Given the description of an element on the screen output the (x, y) to click on. 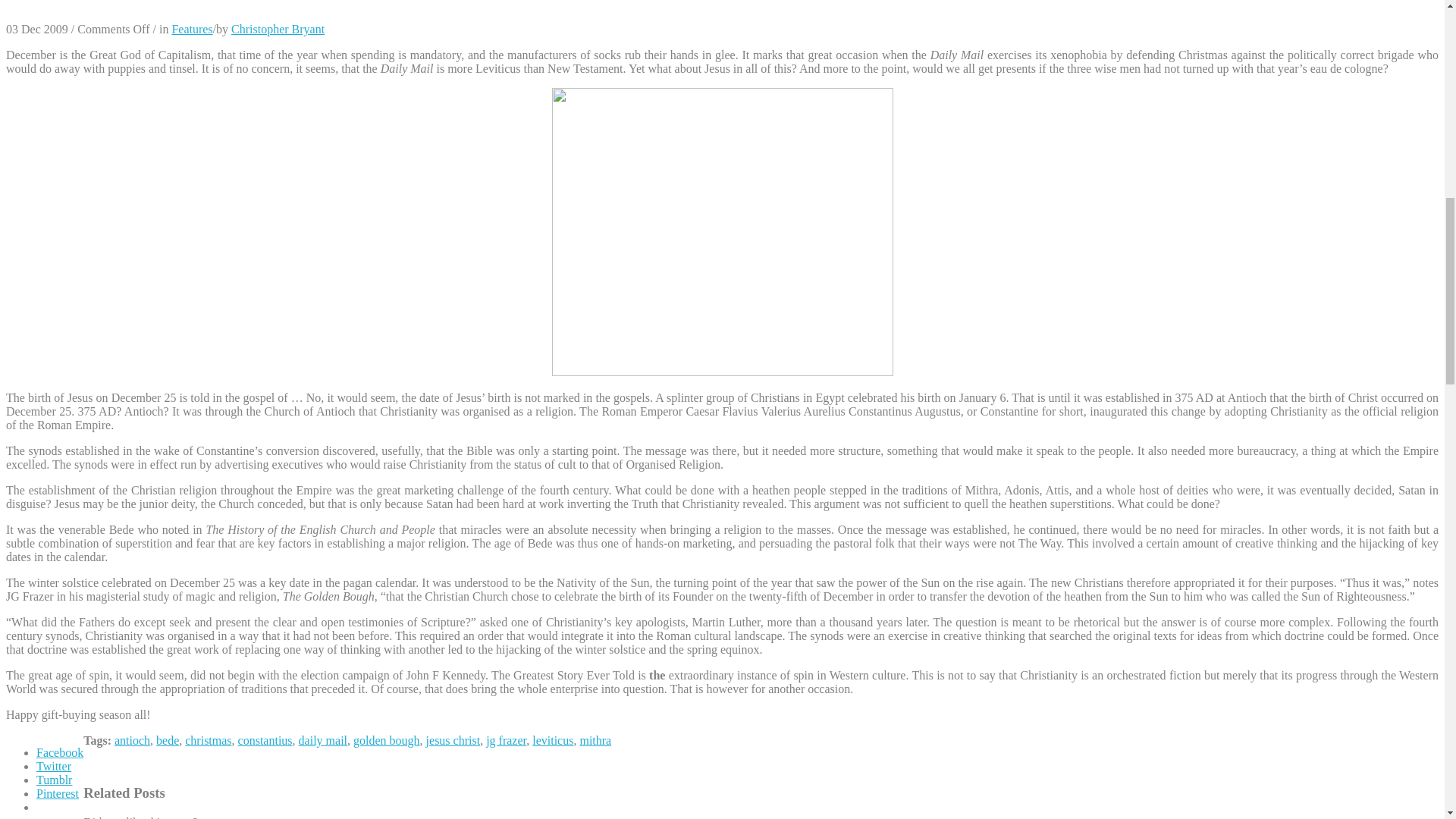
Click to share on Twitter (53, 766)
Posts by Christopher Bryant (277, 29)
Pope Grinch (722, 231)
Click to share on Tumblr (53, 779)
Click to share on Pinterest (57, 793)
Click to share on Facebook (59, 752)
